Given the description of an element on the screen output the (x, y) to click on. 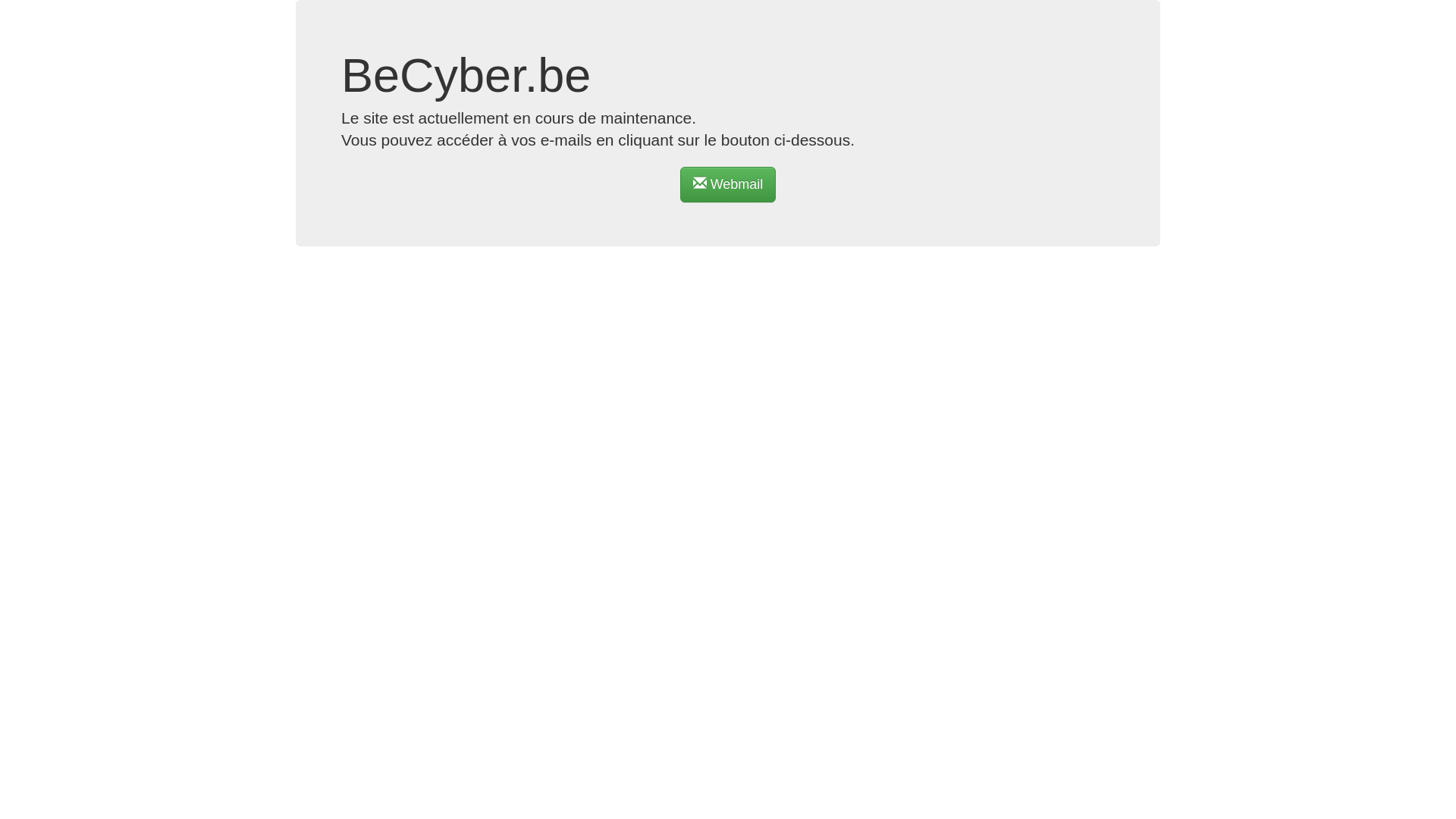
Webmail Element type: text (728, 184)
